Given the description of an element on the screen output the (x, y) to click on. 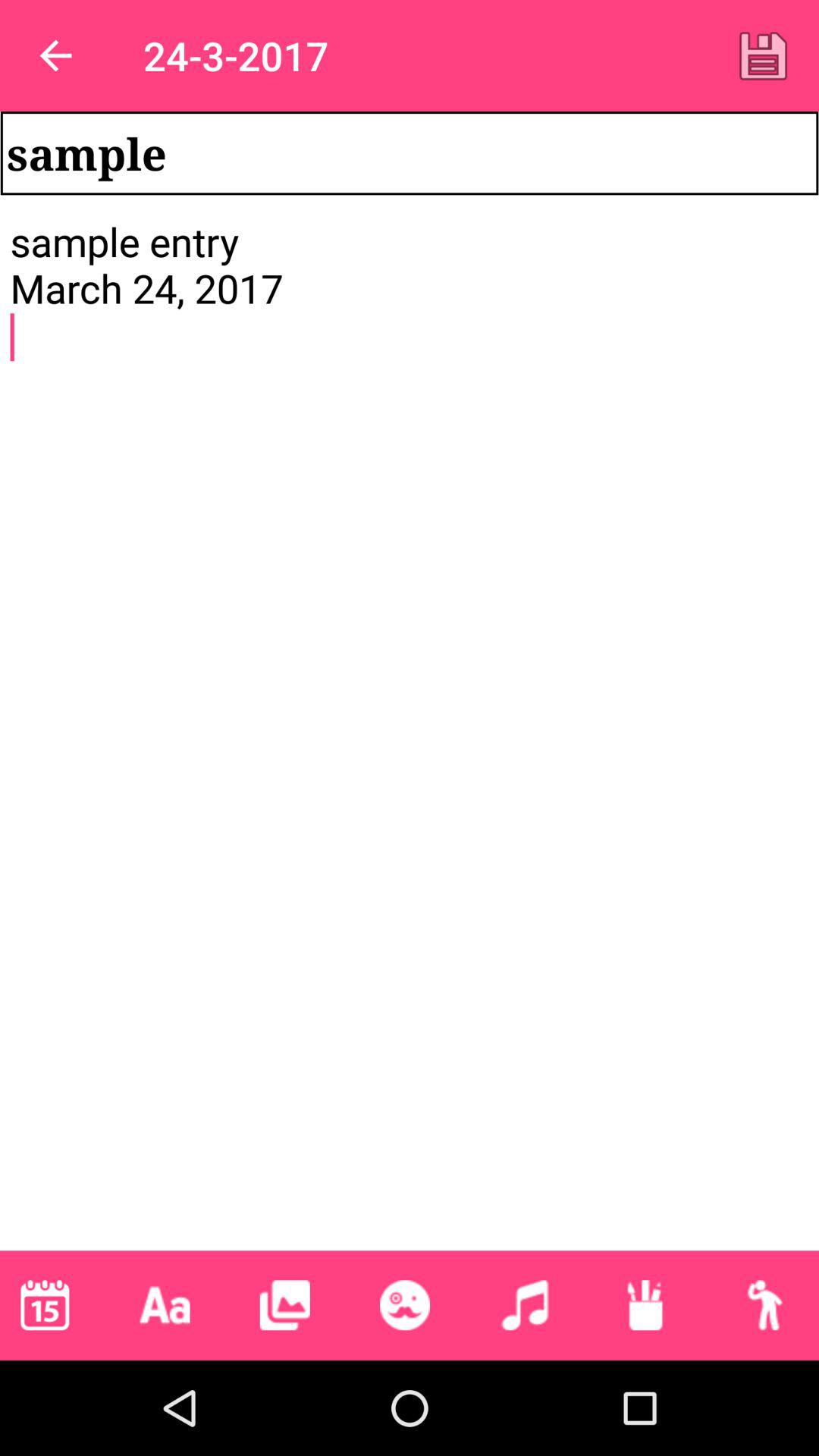
add image (284, 1305)
